Given the description of an element on the screen output the (x, y) to click on. 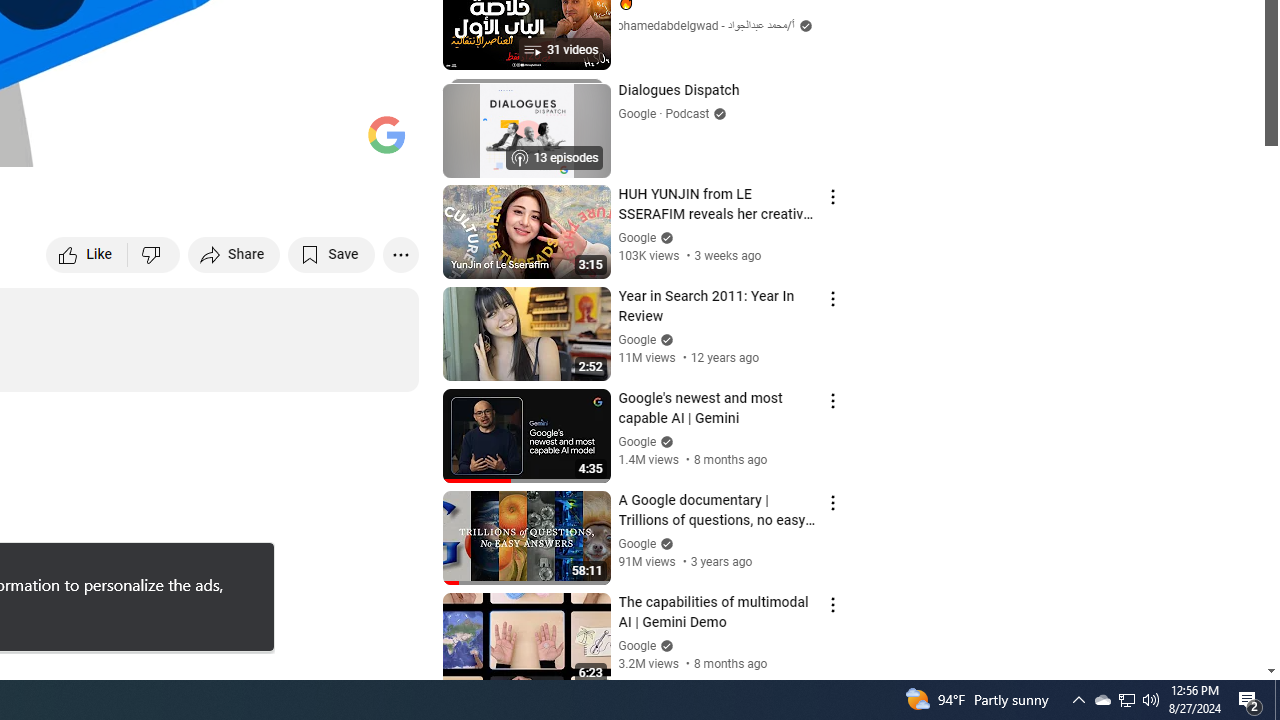
Miniplayer (i) (286, 142)
Settings (237, 142)
Theater mode (t) (333, 142)
Verified (664, 645)
Channel watermark (386, 134)
Action menu (832, 605)
Channel watermark (386, 134)
Share (234, 254)
Subtitles/closed captions unavailable (190, 142)
Like (87, 254)
Full screen keyboard shortcut f (382, 142)
Save to playlist (331, 254)
